Given the description of an element on the screen output the (x, y) to click on. 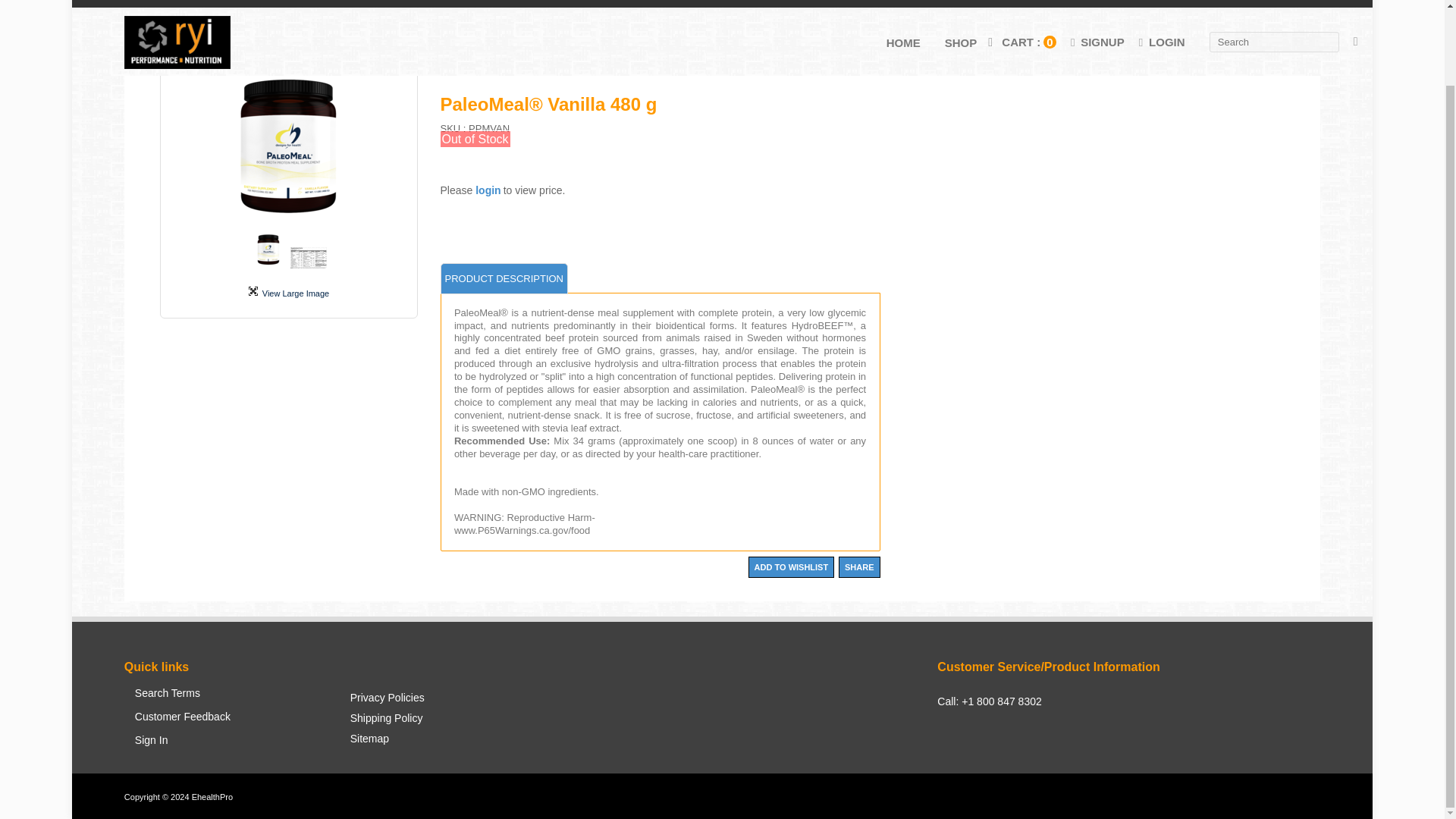
facebook (948, 764)
Blogger (1039, 764)
linkedin (994, 764)
View Large Image (288, 291)
Search Terms (182, 699)
Home (135, 28)
Customer Feedback (182, 722)
Shipping Policy (387, 722)
Youtube (1016, 764)
Products (178, 28)
Sitemap (387, 743)
PRODUCT DESCRIPTION (504, 278)
login (489, 190)
Sign In (182, 746)
Privacy Policies (387, 702)
